Given the description of an element on the screen output the (x, y) to click on. 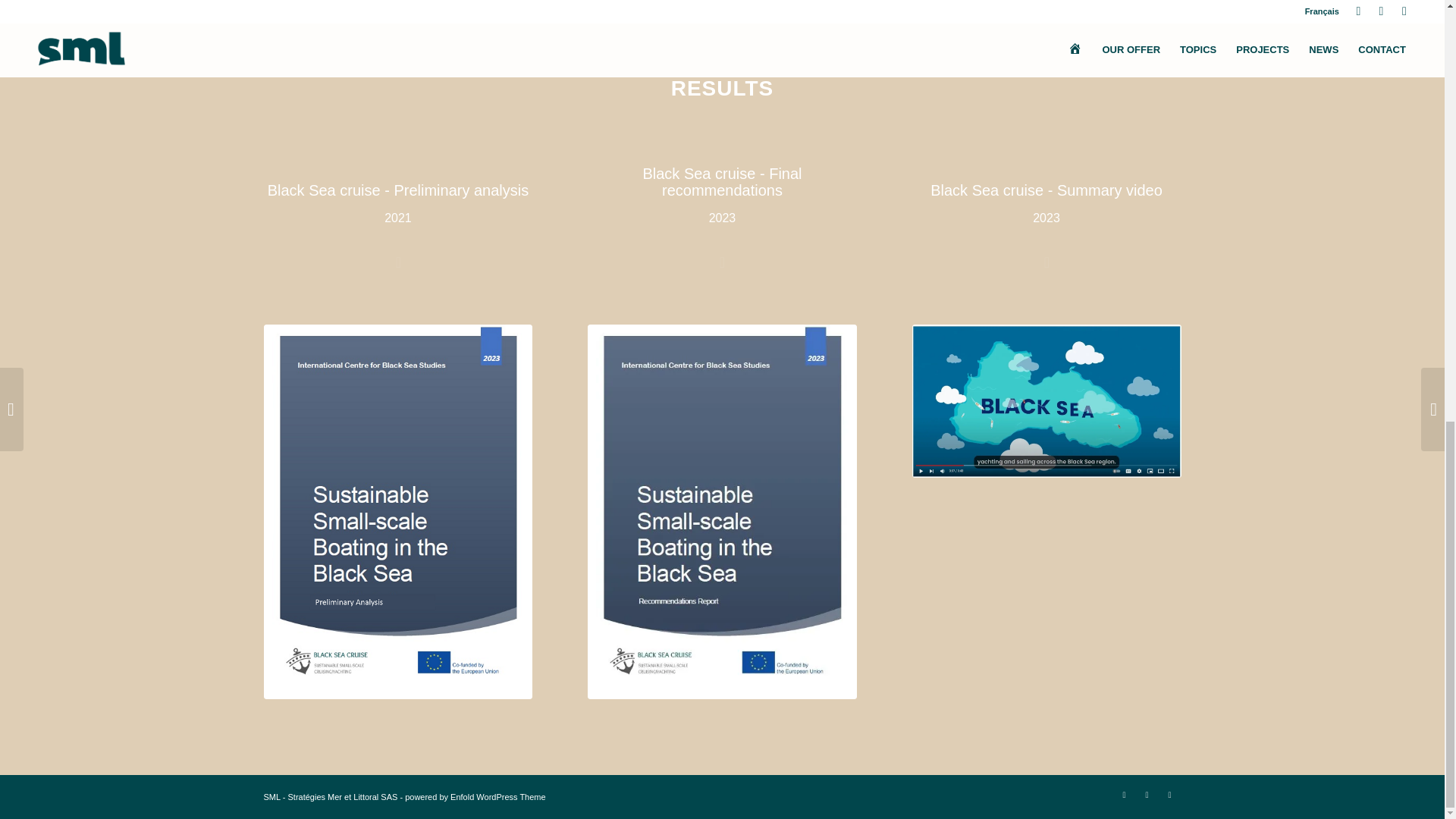
Mail (1169, 793)
Twitter (1146, 793)
LinkedIn (1124, 793)
powered by Enfold WordPress Theme (474, 796)
